Given the description of an element on the screen output the (x, y) to click on. 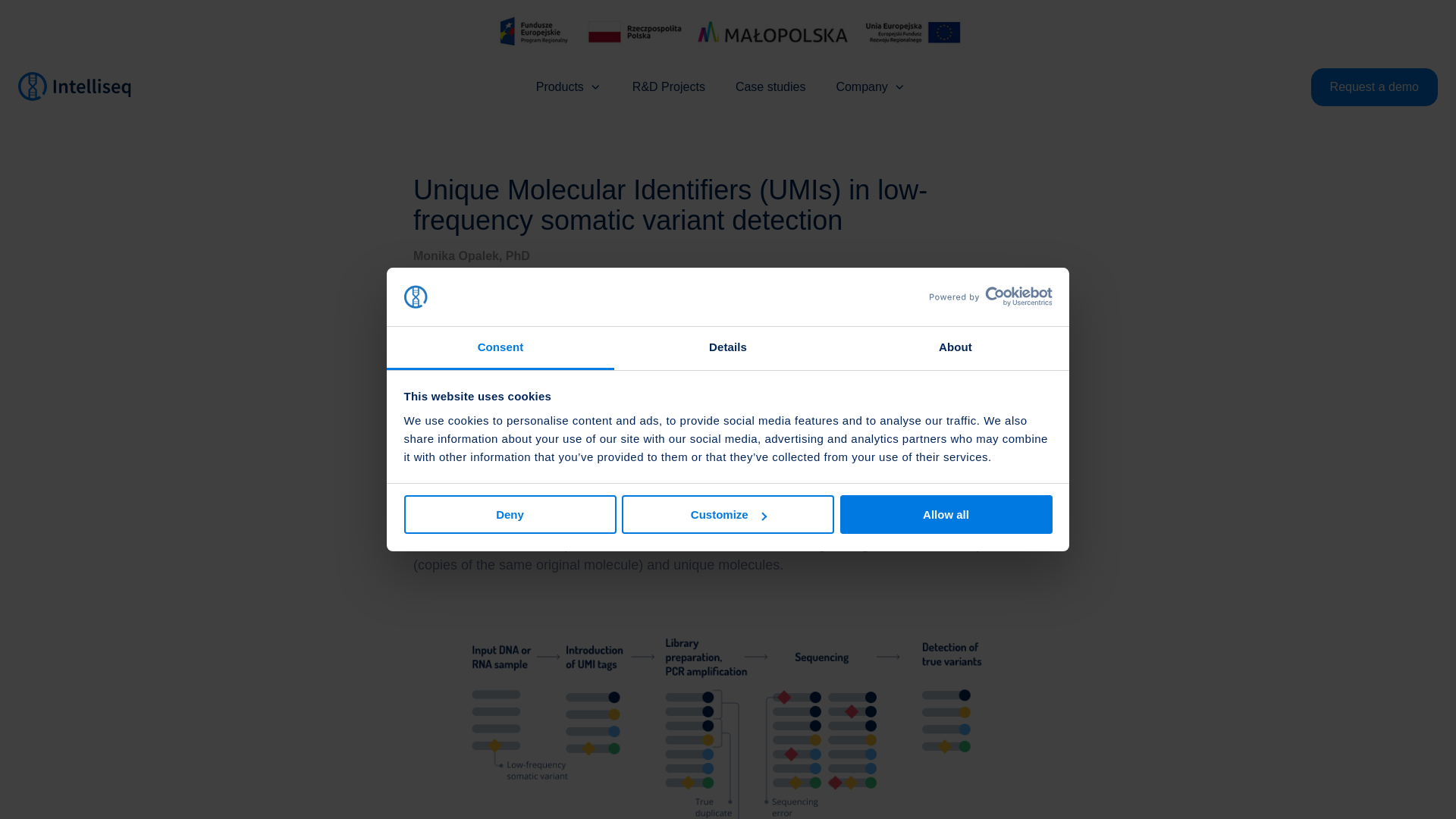
Allow all (946, 514)
Details (727, 348)
About (954, 348)
Customize (727, 514)
Deny (509, 514)
Products (569, 86)
Request a demo (1374, 86)
Consent (500, 348)
